Given the description of an element on the screen output the (x, y) to click on. 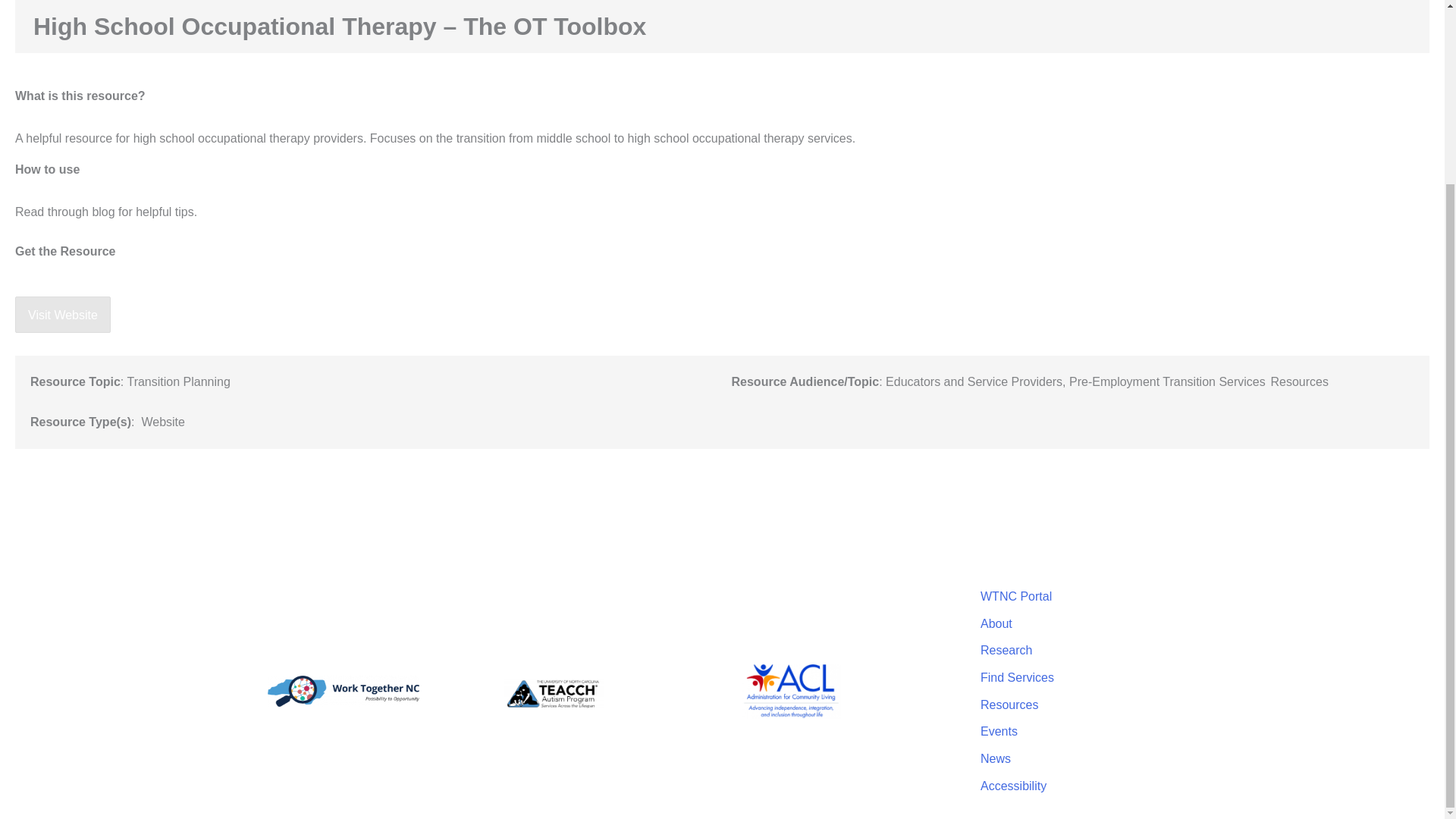
Visit Website (62, 314)
Visit Website (62, 314)
